Given the description of an element on the screen output the (x, y) to click on. 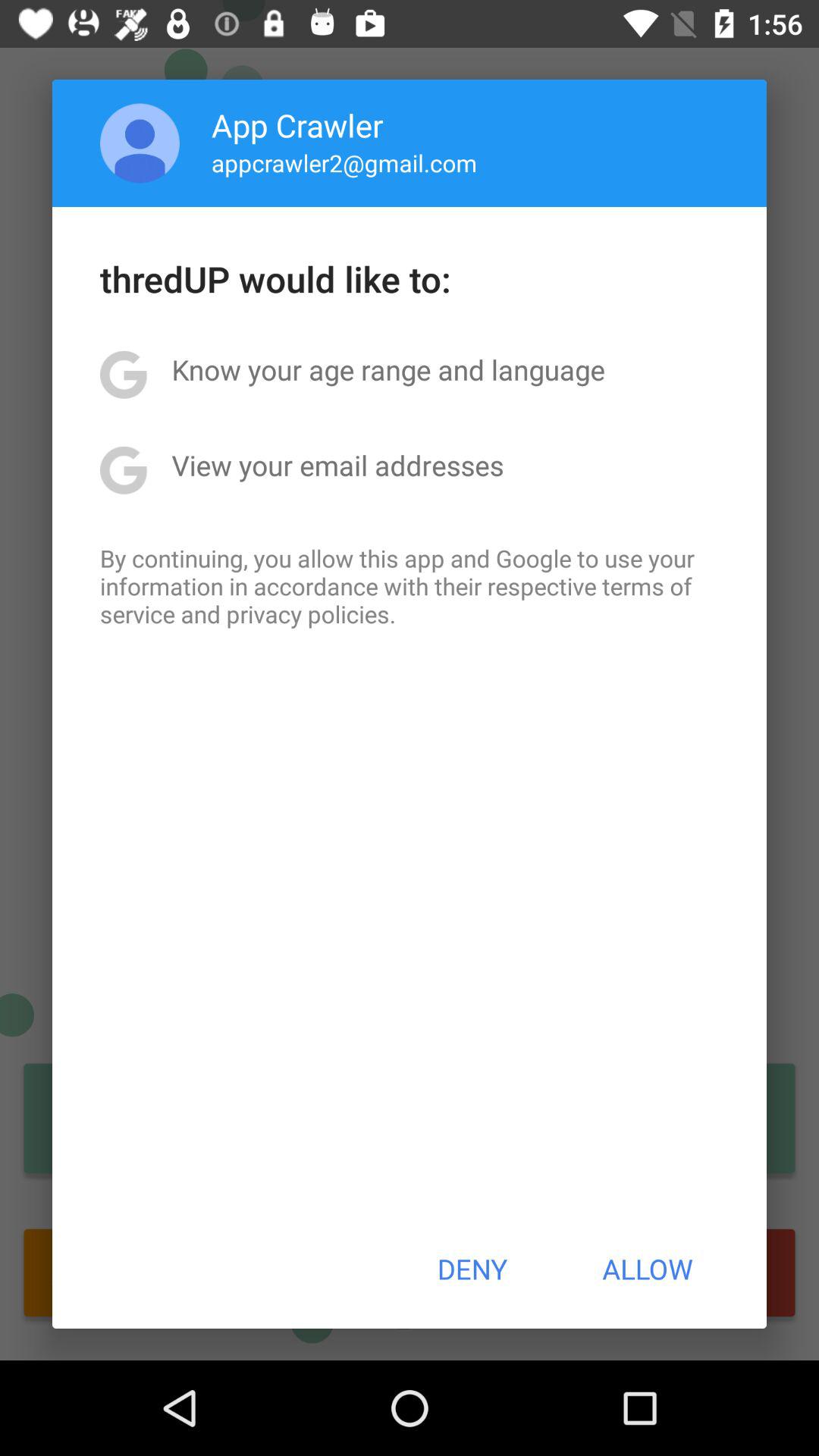
swipe to the deny button (471, 1268)
